Given the description of an element on the screen output the (x, y) to click on. 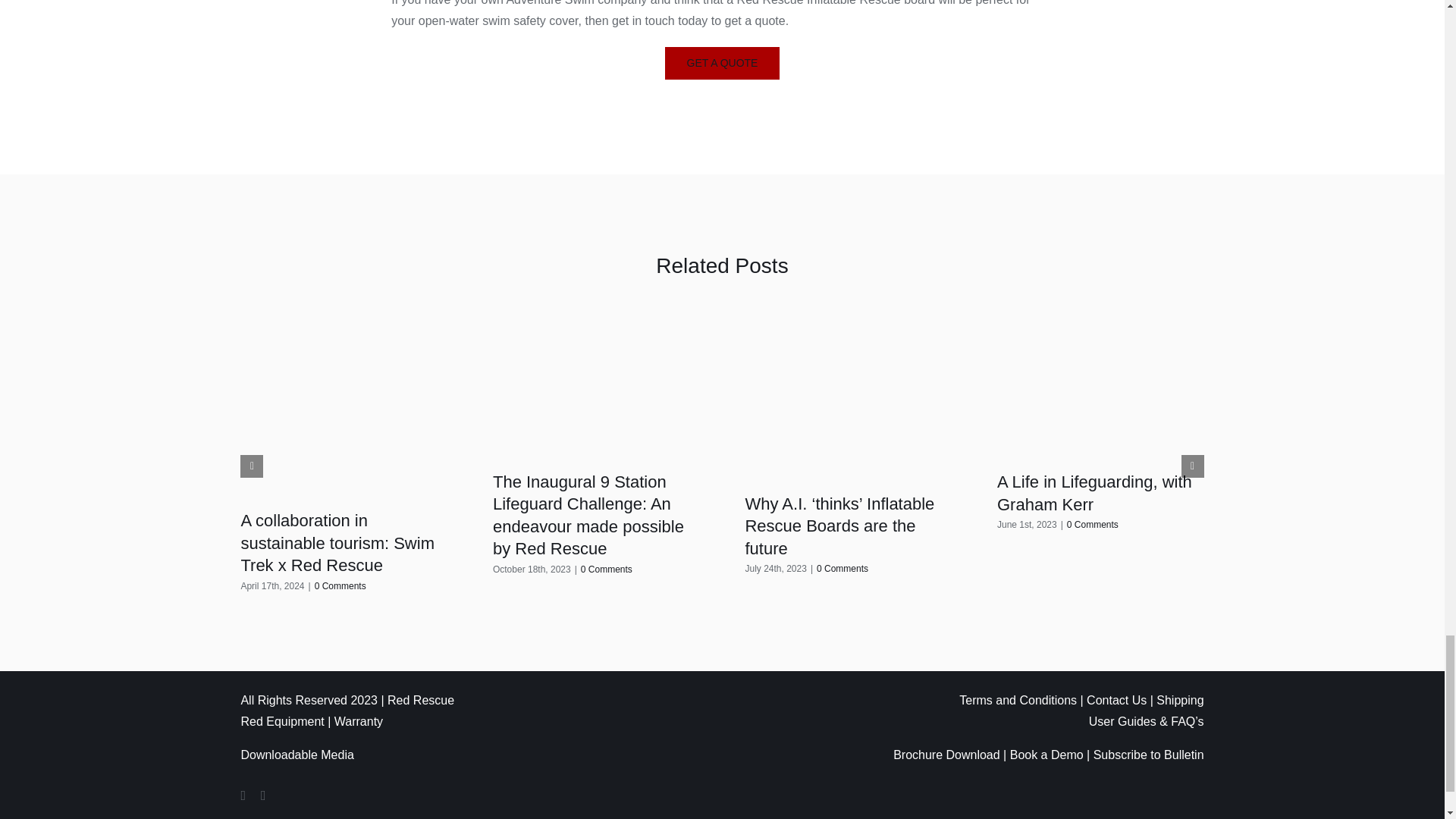
0 Comments (841, 568)
0 Comments (340, 585)
0 Comments (605, 569)
A Life in Lifeguarding, with Graham Kerr (1094, 492)
GET A QUOTE (722, 62)
